Given the description of an element on the screen output the (x, y) to click on. 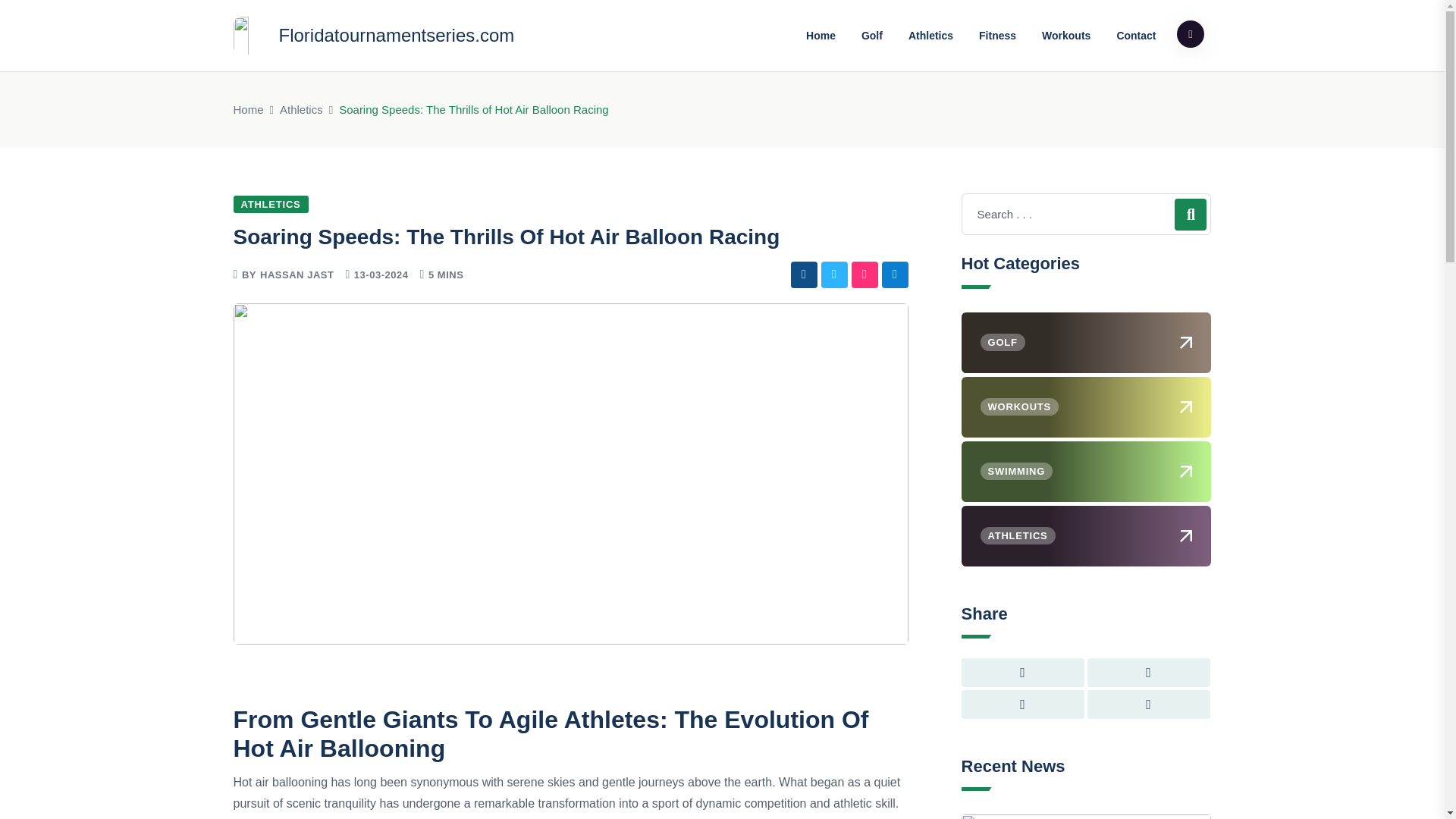
GOLF (1085, 342)
ATHLETICS (270, 203)
Floridatournamentseries.com (373, 35)
Contact (1136, 35)
ATHLETICS (1085, 536)
Athletics (301, 109)
SWIMMING (1085, 471)
HASSAN JAST (296, 274)
Athletics (930, 35)
Workouts (1066, 35)
Home (247, 109)
WORKOUTS (1085, 406)
